Given the description of an element on the screen output the (x, y) to click on. 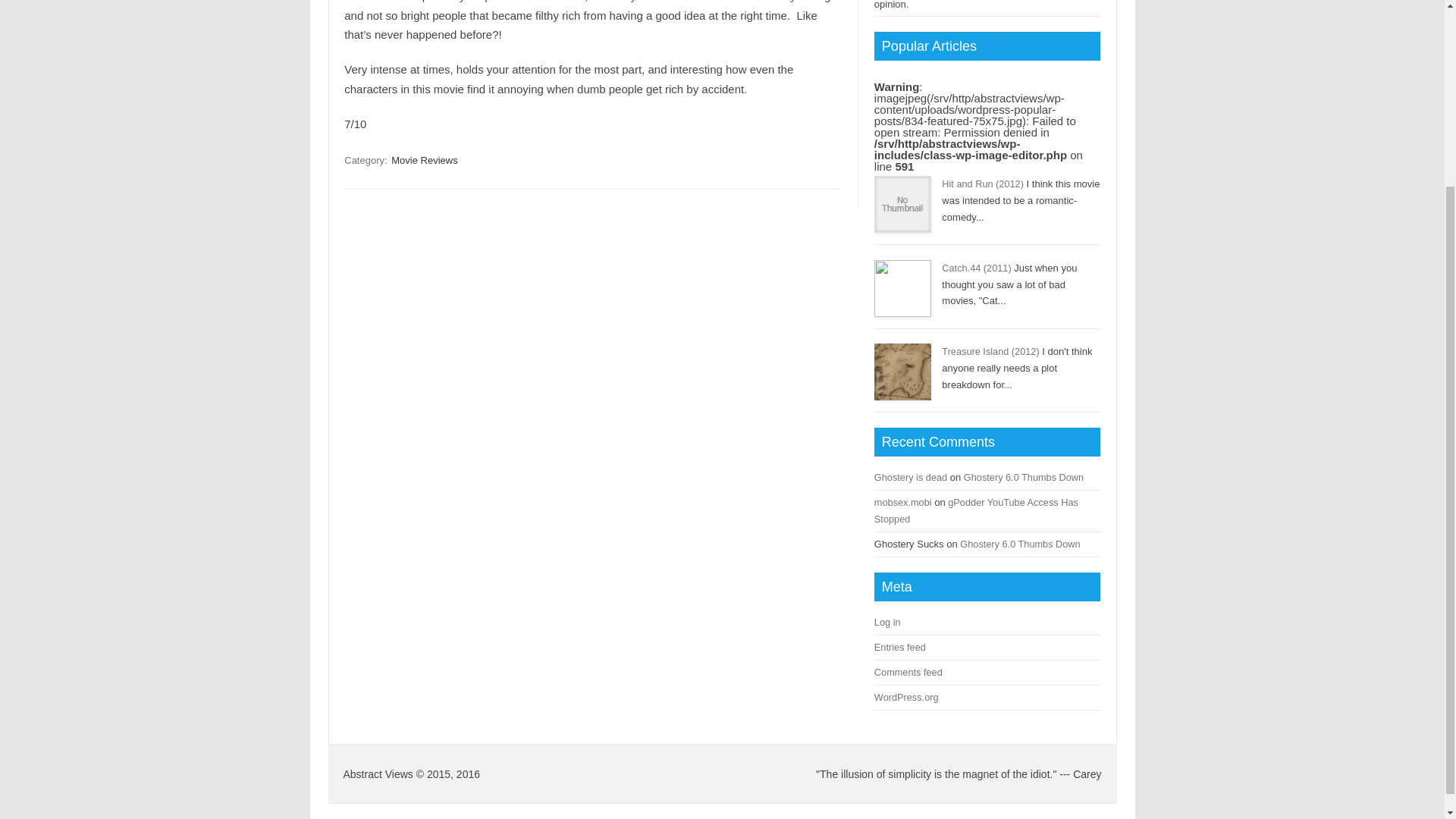
Ghostery is dead (911, 477)
mobsex.mobi (903, 501)
Ghostery 6.0 Thumbs Down (1023, 477)
Entries feed (900, 646)
Movie Reviews (424, 160)
WordPress.org (907, 696)
gPodder YouTube Access Has Stopped (976, 510)
Ghostery 6.0 Thumbs Down (1019, 543)
Comments feed (908, 672)
Log in (888, 622)
